Given the description of an element on the screen output the (x, y) to click on. 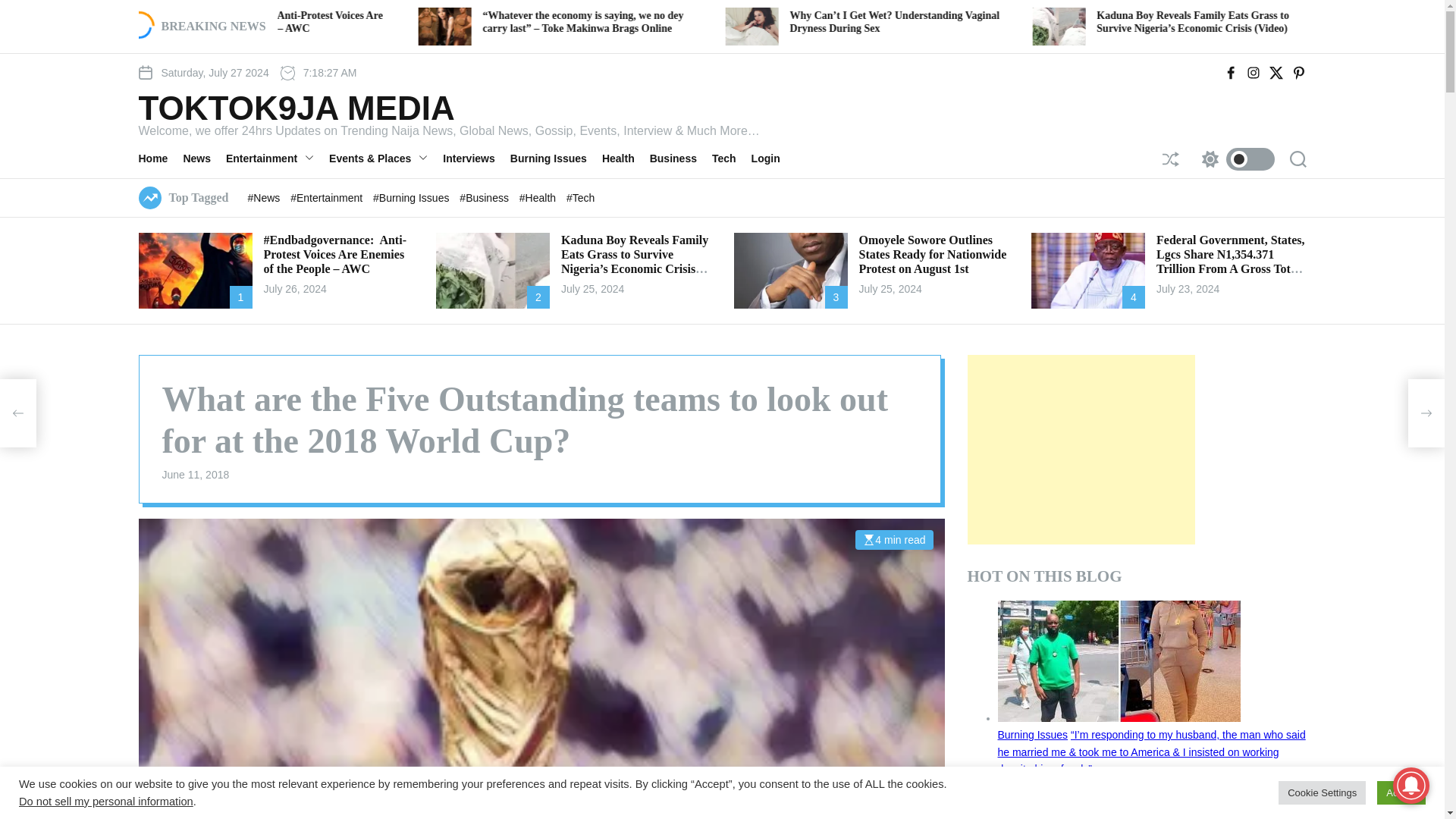
Twitter (1275, 72)
Soldier Handcuffs Girlfriend After She Ends Relationship (443, 21)
Facebook (1230, 72)
Instagram (1252, 72)
